Given the description of an element on the screen output the (x, y) to click on. 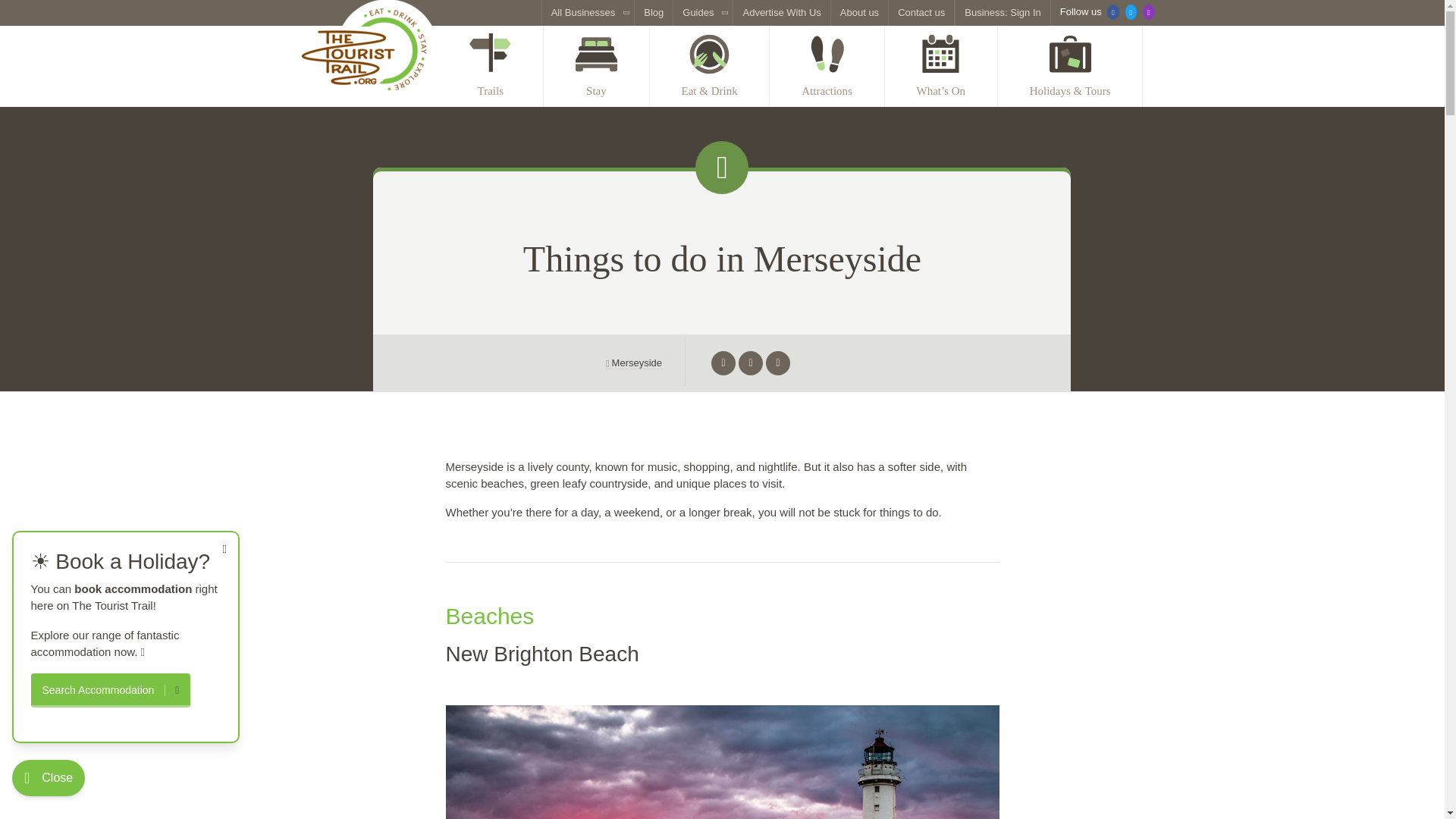
Stay (596, 66)
Explore (491, 66)
Holidays and Tours (1069, 66)
All Businesses (587, 12)
What's On (941, 66)
